Given the description of an element on the screen output the (x, y) to click on. 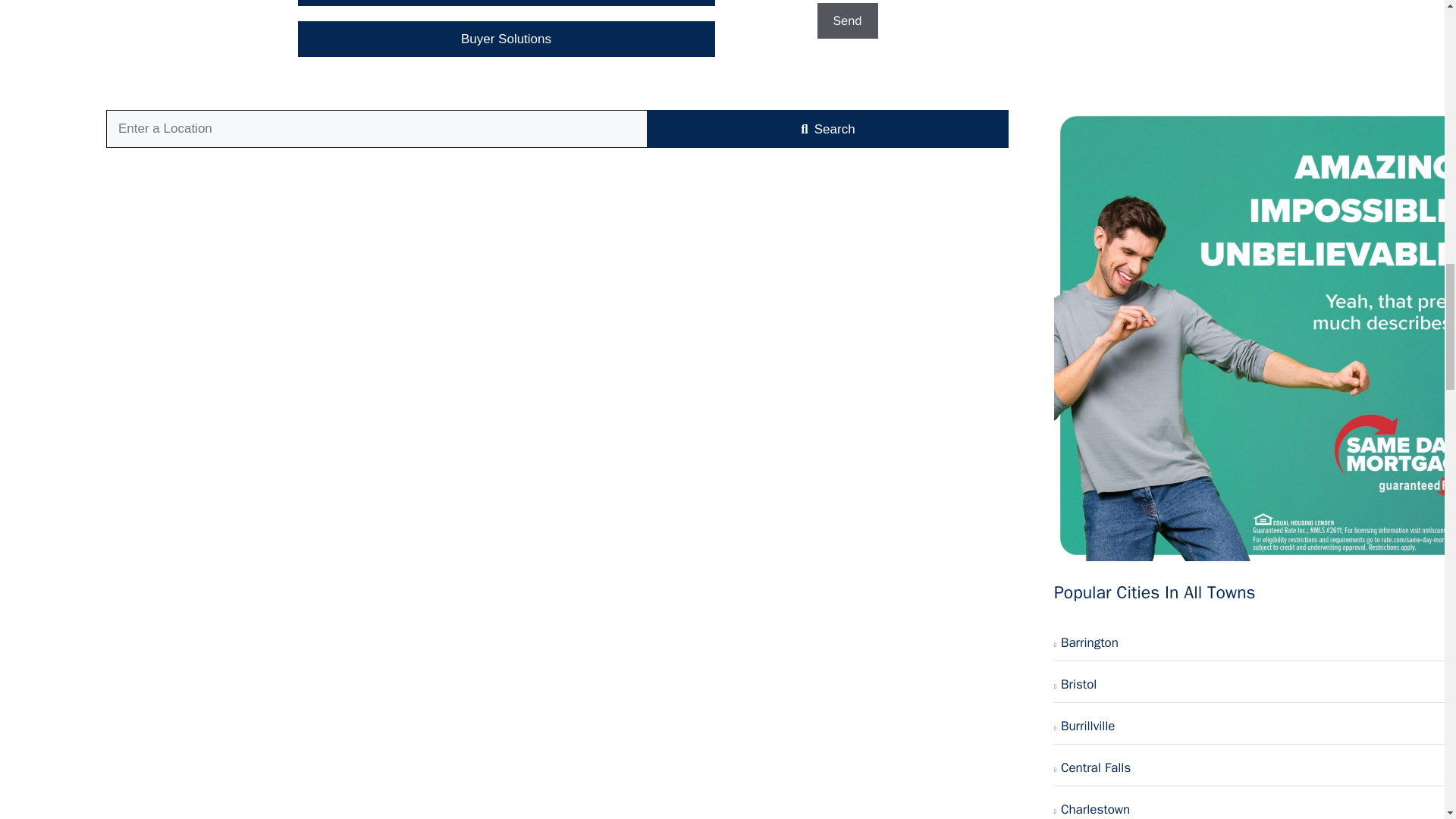
Charlestown (1255, 805)
Burrillville (1255, 726)
Central Falls (1255, 768)
Barrington (1255, 642)
Bristol (1255, 684)
Send (846, 21)
